Given the description of an element on the screen output the (x, y) to click on. 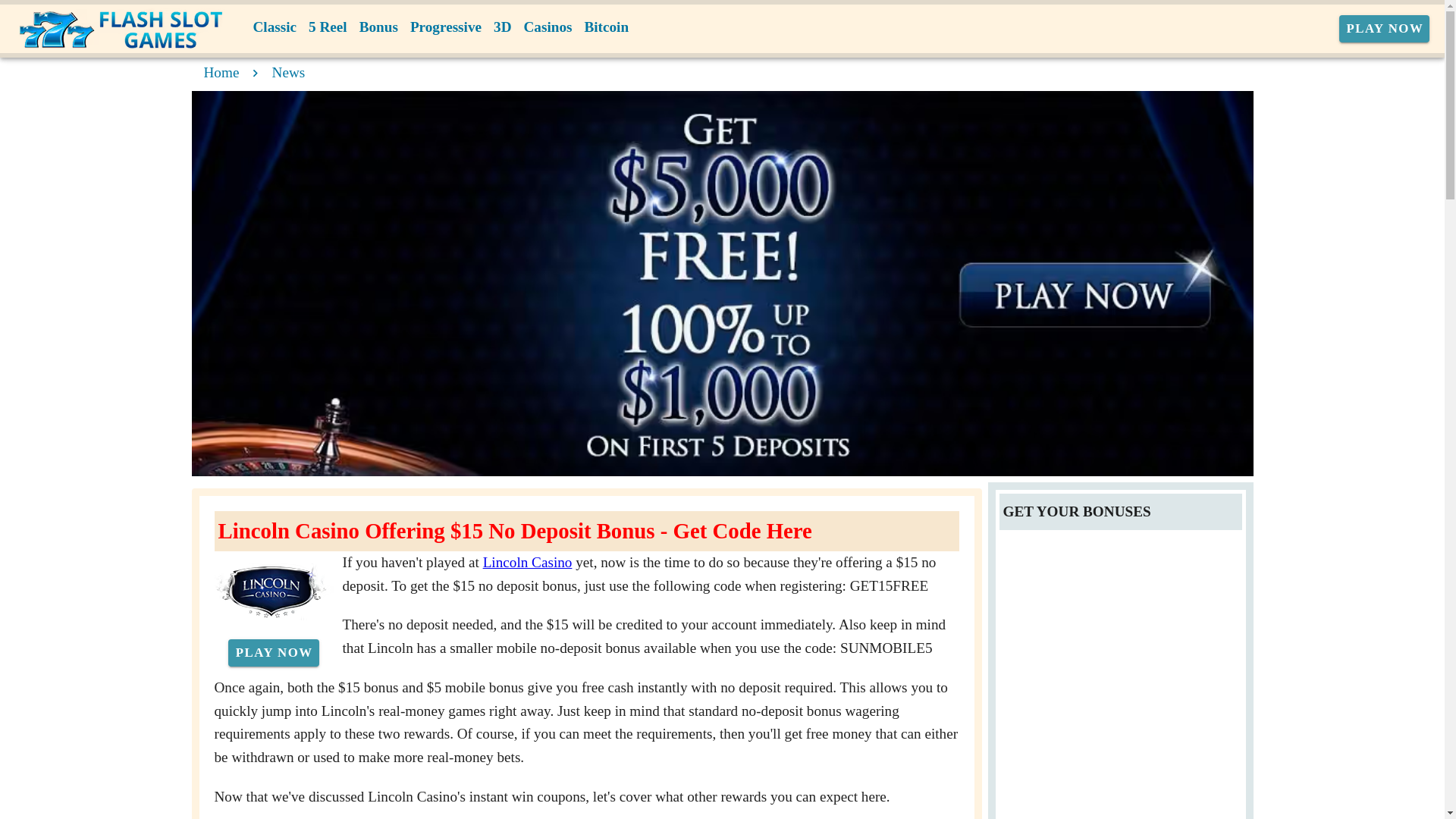
Classic (274, 27)
PLAY NOW (273, 652)
Home (220, 72)
Bitcoin (606, 27)
5 Reel (327, 27)
Casinos (547, 27)
PLAY NOW (1384, 28)
Lincoln Casino (527, 562)
Progressive (445, 27)
News (288, 72)
